Given the description of an element on the screen output the (x, y) to click on. 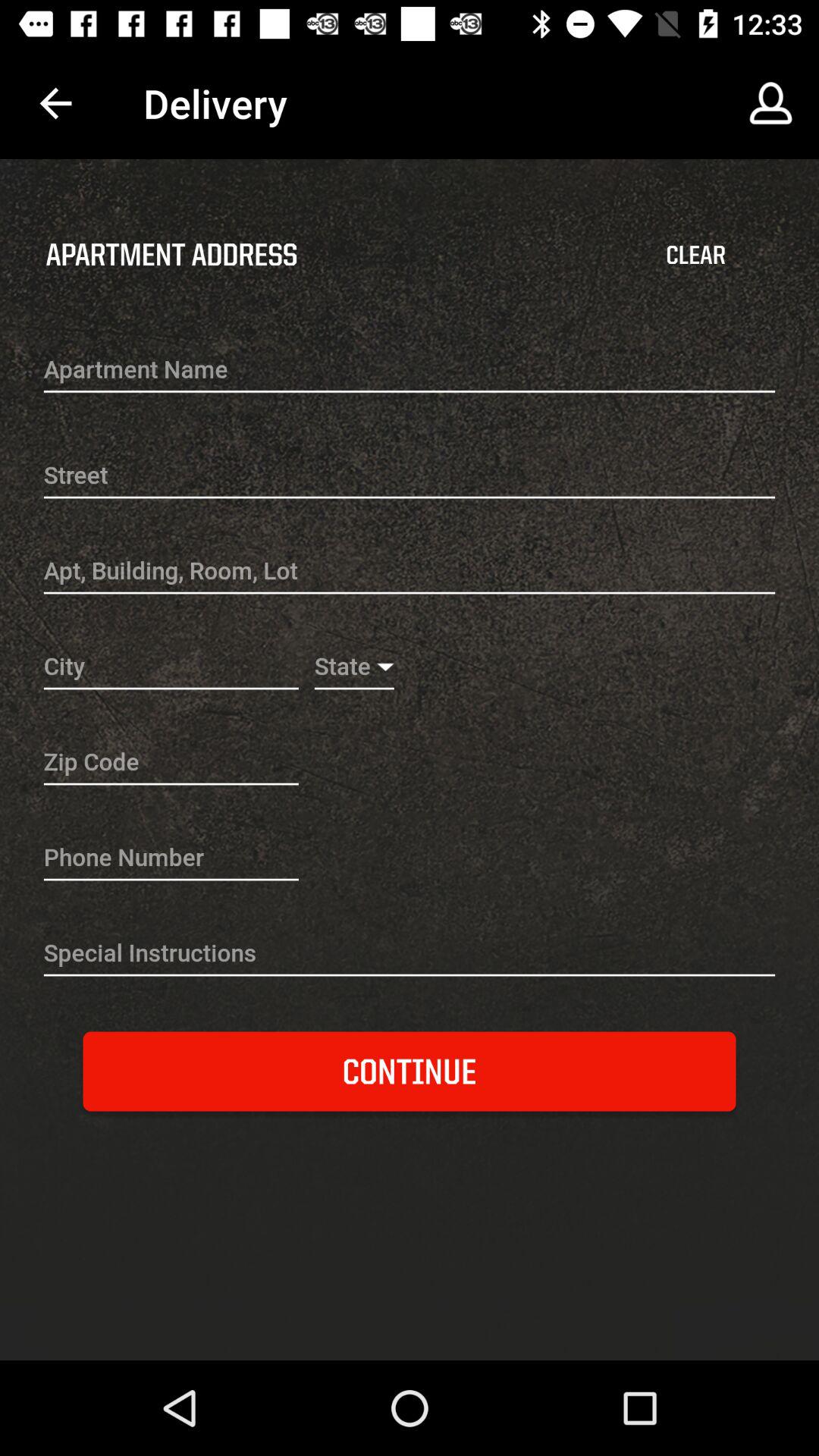
open icon above the continue item (409, 954)
